Given the description of an element on the screen output the (x, y) to click on. 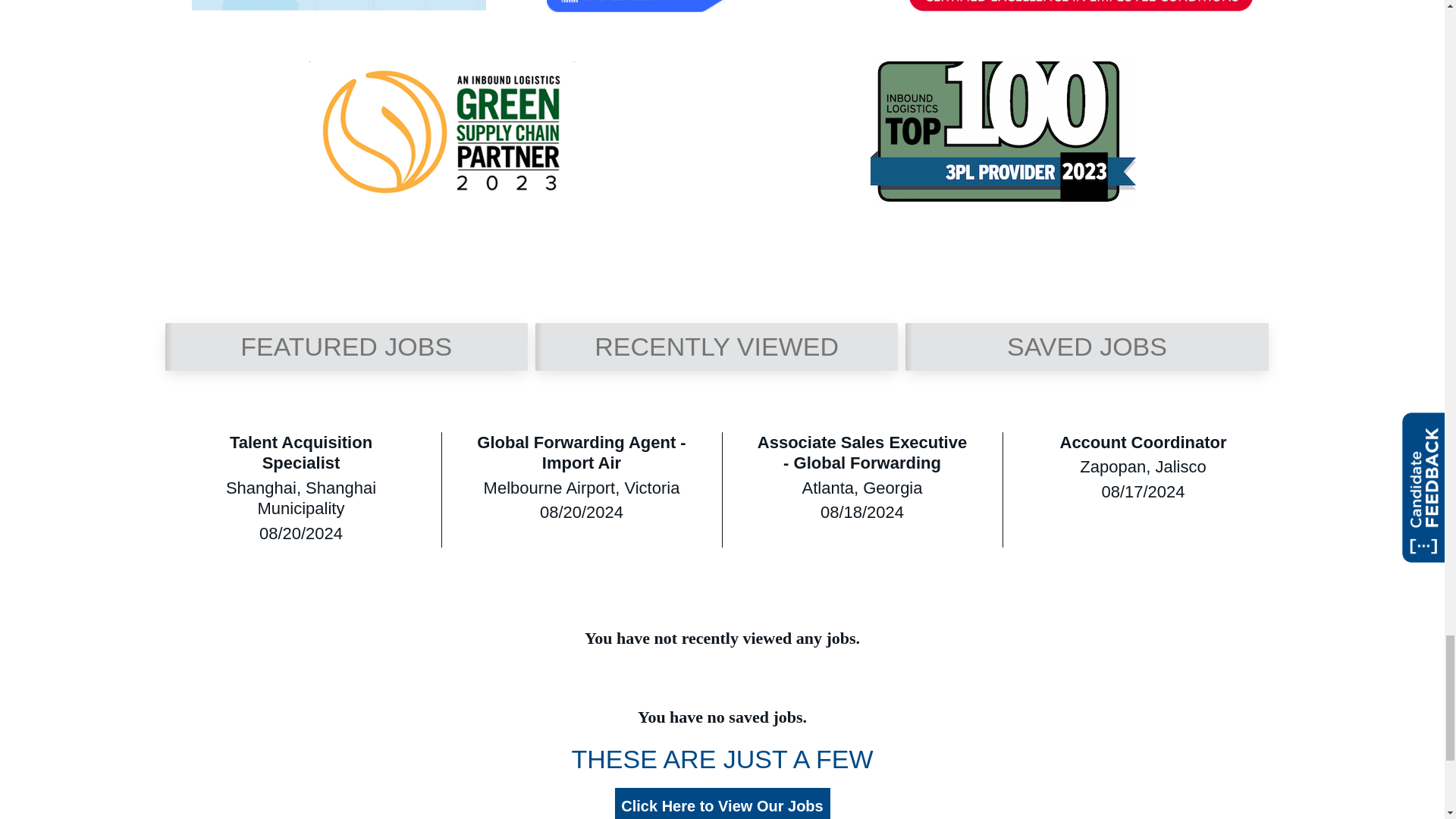
FEATURED JOBS (346, 346)
Talent Acquisition Specialist (301, 454)
Global Forwarding Agent - Import Air (581, 454)
Account Coordinator (1142, 444)
RECENTLY VIEWED (716, 346)
SAVED JOBS (1086, 346)
Associate Sales Executive - Global Forwarding (861, 454)
